Given the description of an element on the screen output the (x, y) to click on. 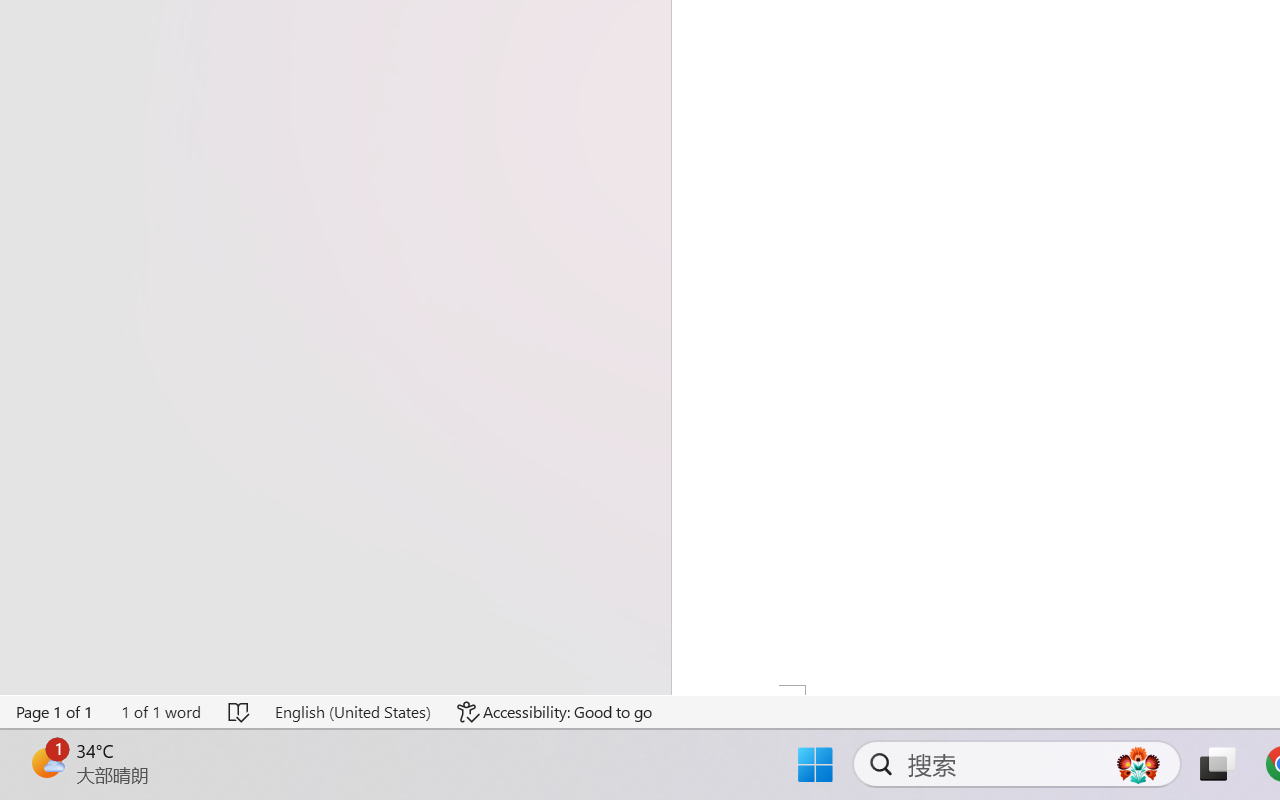
Page Number Page 1 of 1 (55, 712)
